Given the description of an element on the screen output the (x, y) to click on. 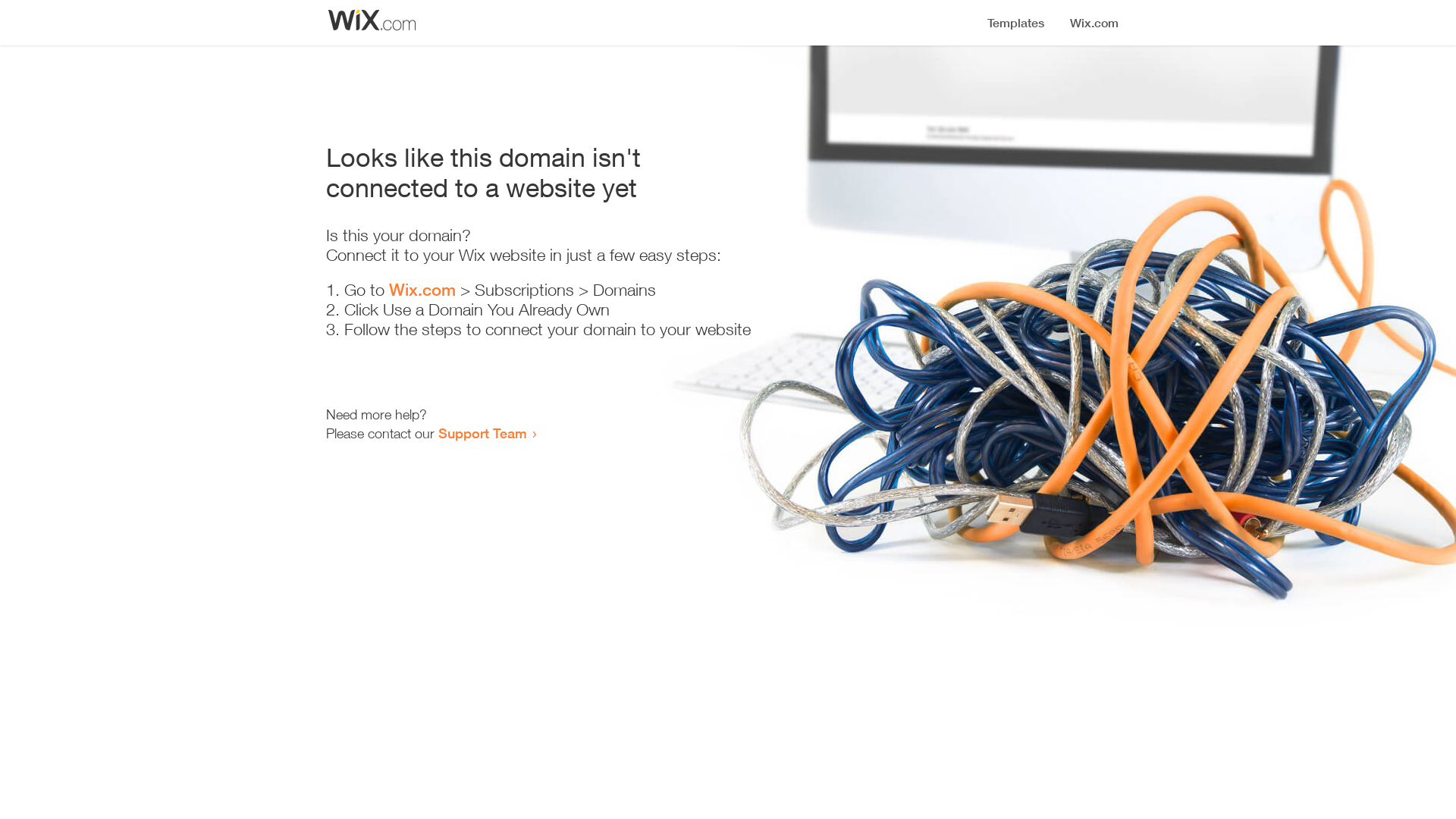
Wix.com Element type: text (422, 289)
Support Team Element type: text (482, 432)
